Given the description of an element on the screen output the (x, y) to click on. 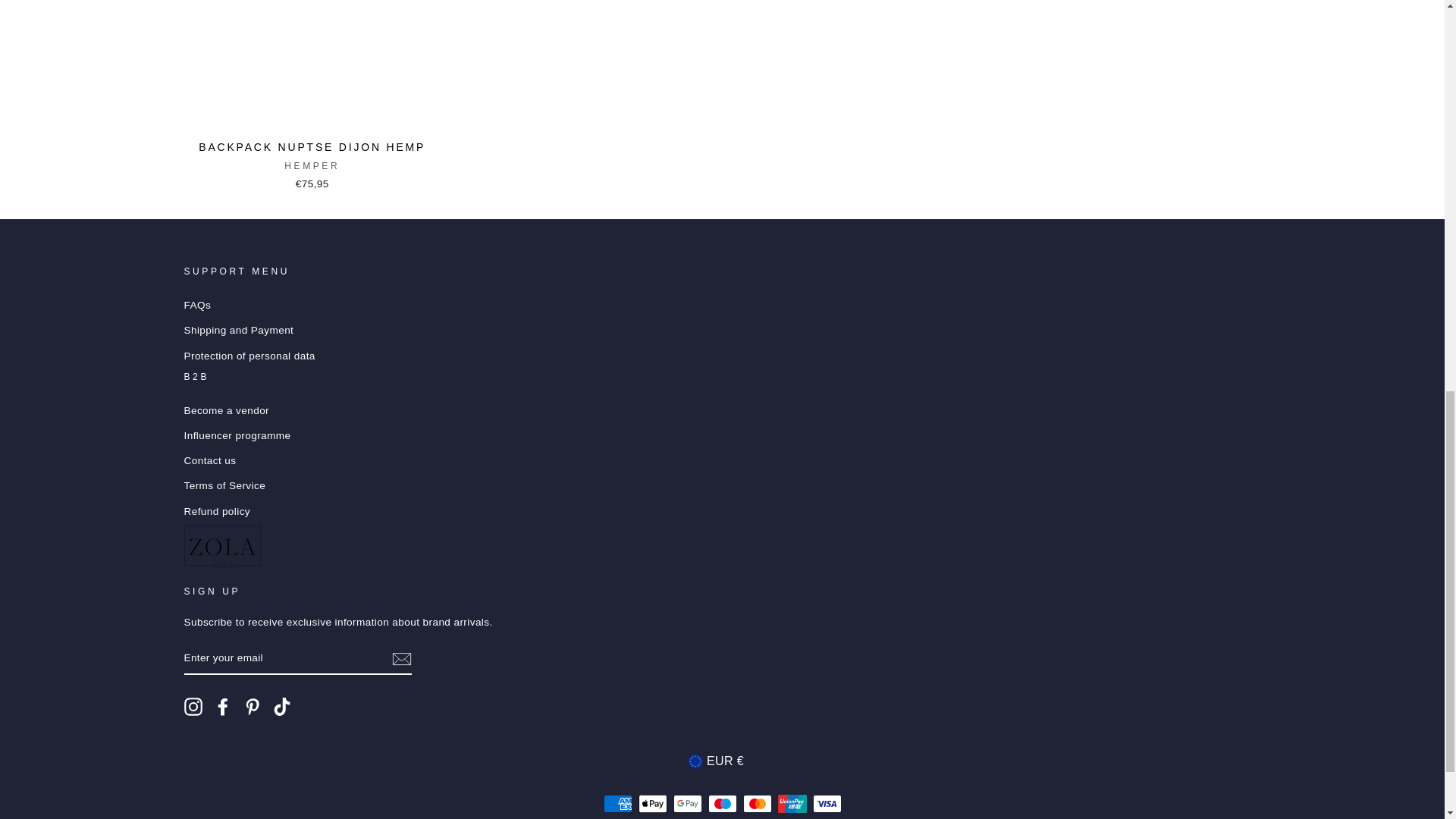
Mastercard (756, 803)
Zola Made In on Instagram (192, 706)
Zola Made In on Pinterest (251, 706)
Zola Made In on TikTok (282, 706)
Visa (826, 803)
Union Pay (791, 803)
American Express (617, 803)
Maestro (721, 803)
Google Pay (686, 803)
Apple Pay (652, 803)
